Given the description of an element on the screen output the (x, y) to click on. 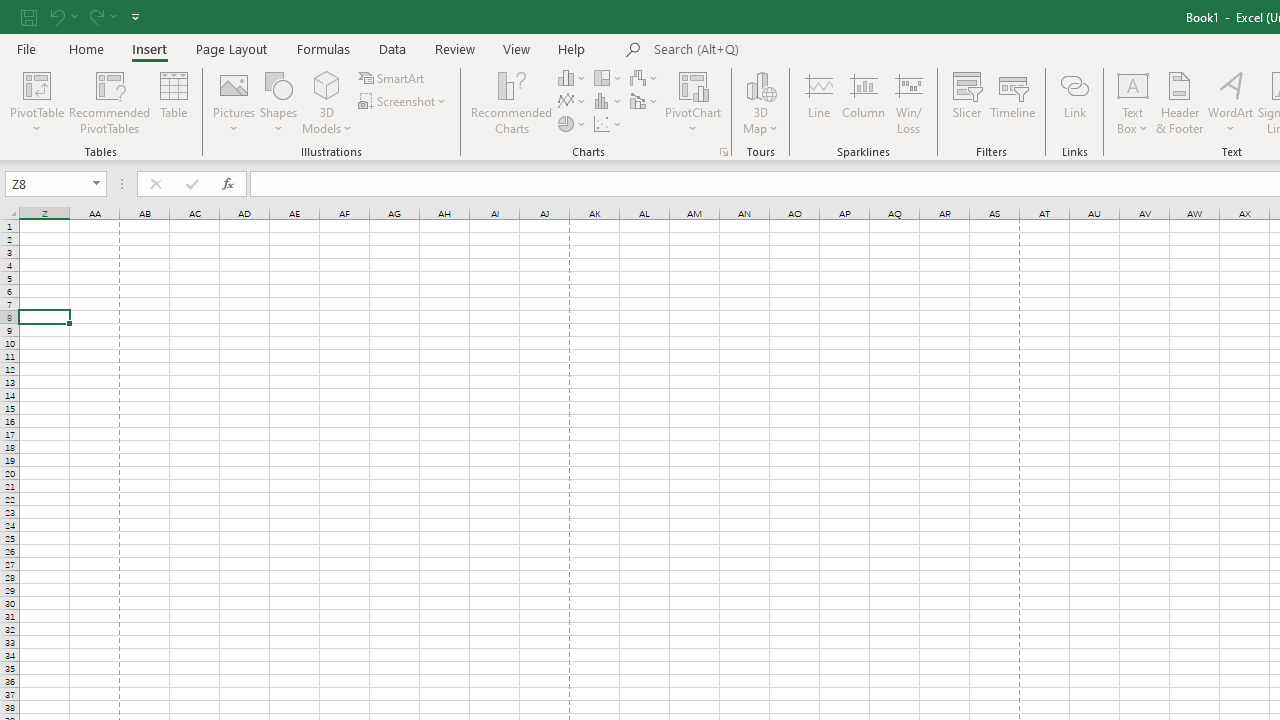
Insert Waterfall, Funnel, Stock, Surface, or Radar Chart (645, 78)
Insert Statistic Chart (609, 101)
Draw Horizontal Text Box (1133, 84)
